Given the description of an element on the screen output the (x, y) to click on. 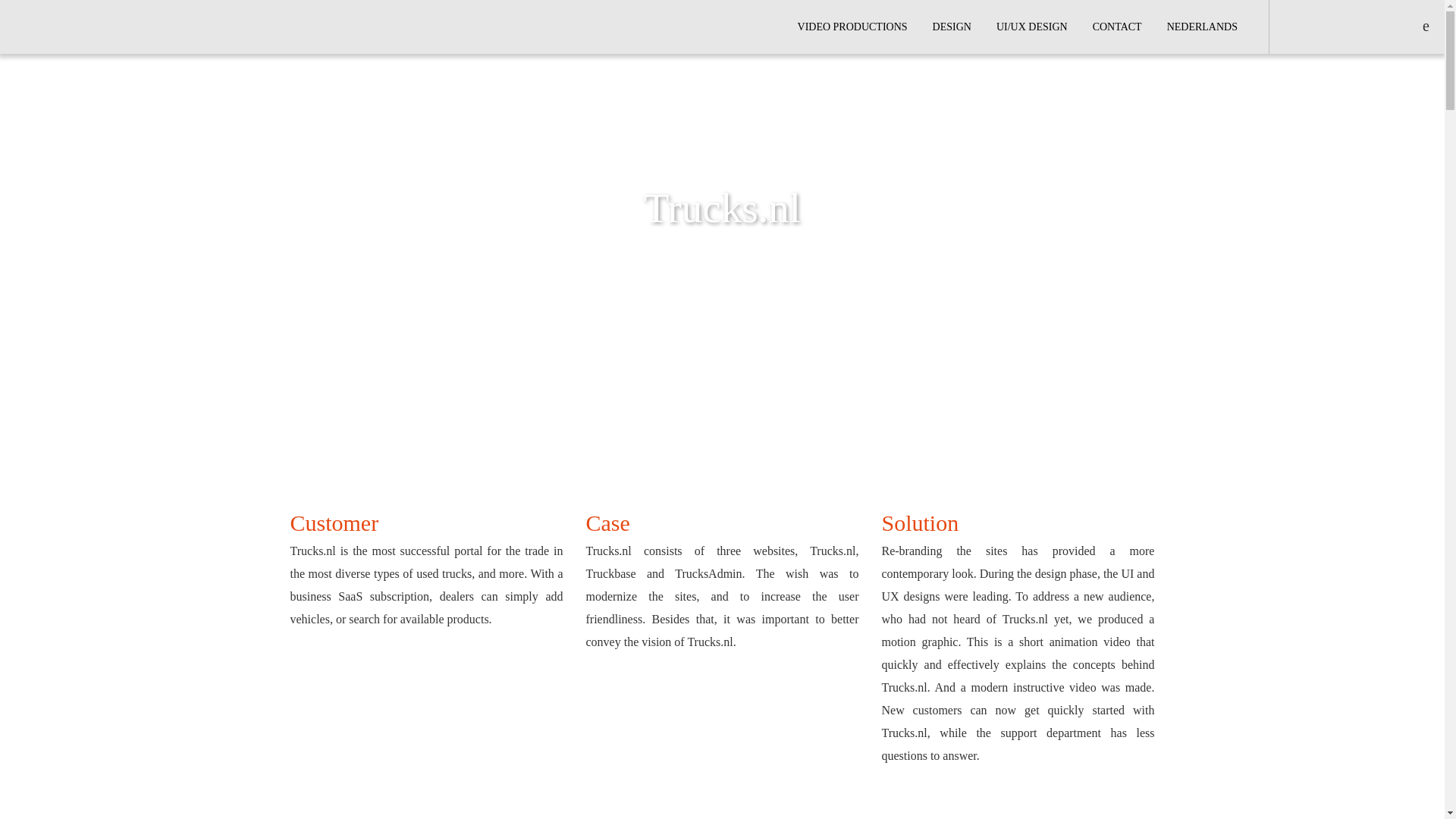
VIDEO PRODUCTIONS (852, 27)
CONTACT (1117, 27)
NEDERLANDS (1202, 27)
